Given the description of an element on the screen output the (x, y) to click on. 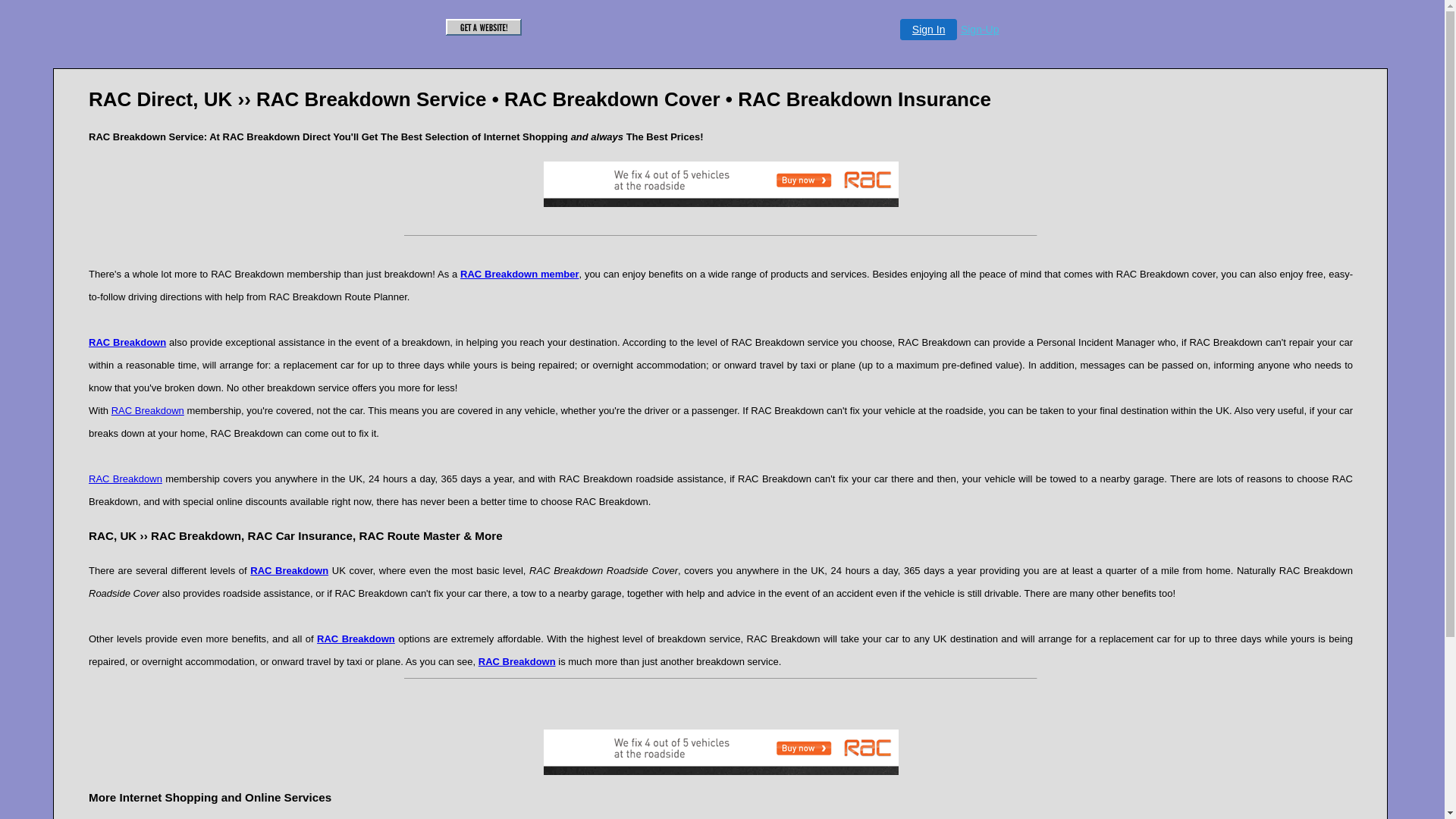
RAC Breakdown (355, 637)
RAC Breakdown (517, 660)
RAC Breakdown (289, 569)
RAC Breakdown member (519, 274)
Sign-Up (979, 29)
Sign In (928, 29)
RAC Breakdown Online Store (720, 184)
RAC Breakdown (126, 342)
RAC Breakdown (124, 478)
RAC Breakdown (148, 410)
